Given the description of an element on the screen output the (x, y) to click on. 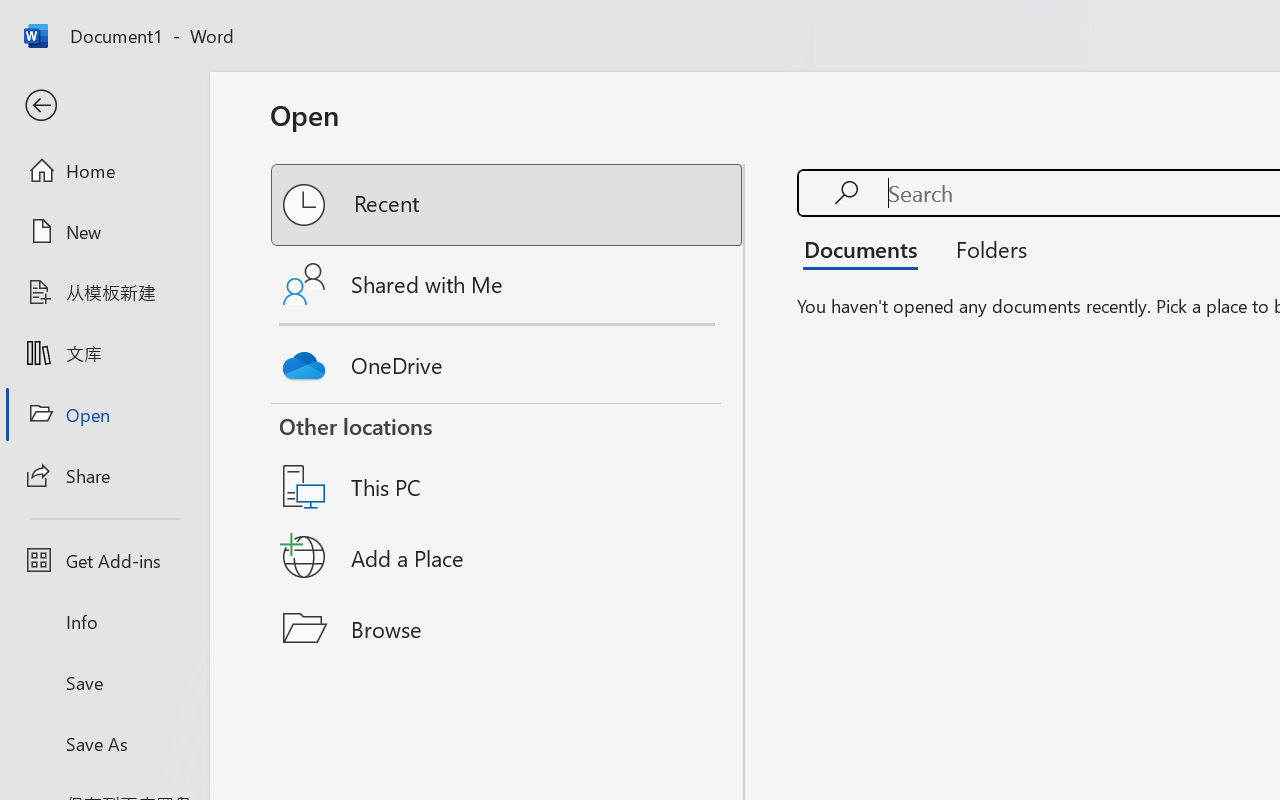
Info (104, 621)
Documents (866, 248)
OneDrive (507, 359)
Shared with Me (507, 283)
Add a Place (507, 557)
Recent (507, 205)
Get Add-ins (104, 560)
This PC (507, 461)
New (104, 231)
Save As (104, 743)
